Given the description of an element on the screen output the (x, y) to click on. 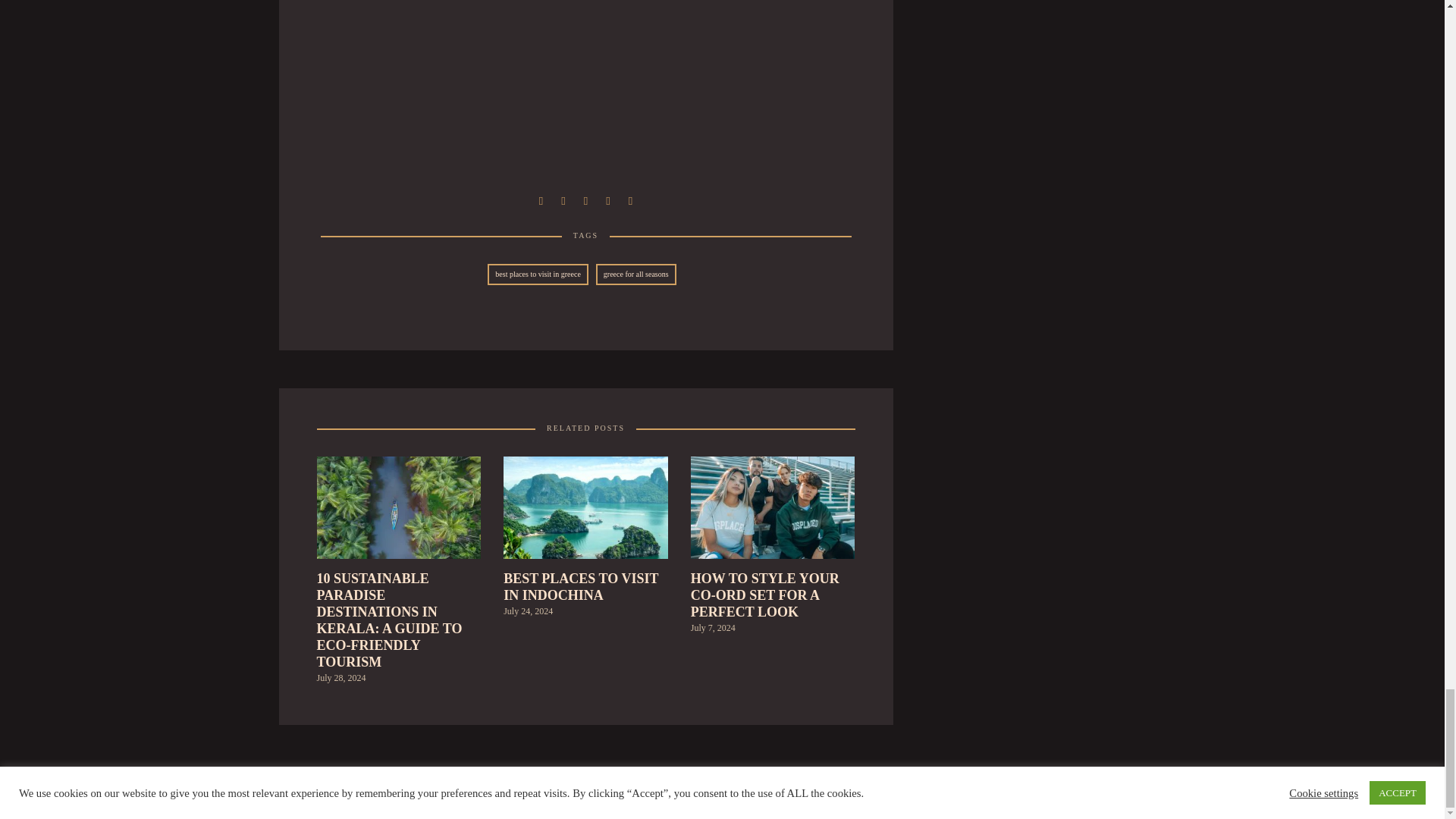
How To Style Your Co-Ord Set For A Perfect Look (773, 511)
Best Places to Visit in Indochina (585, 511)
Amazing Greek destinations for every season of 2020 (563, 198)
How To Style Your Co-Ord Set For A Perfect Look (773, 626)
Best Places to Visit in Indochina (585, 618)
